Given the description of an element on the screen output the (x, y) to click on. 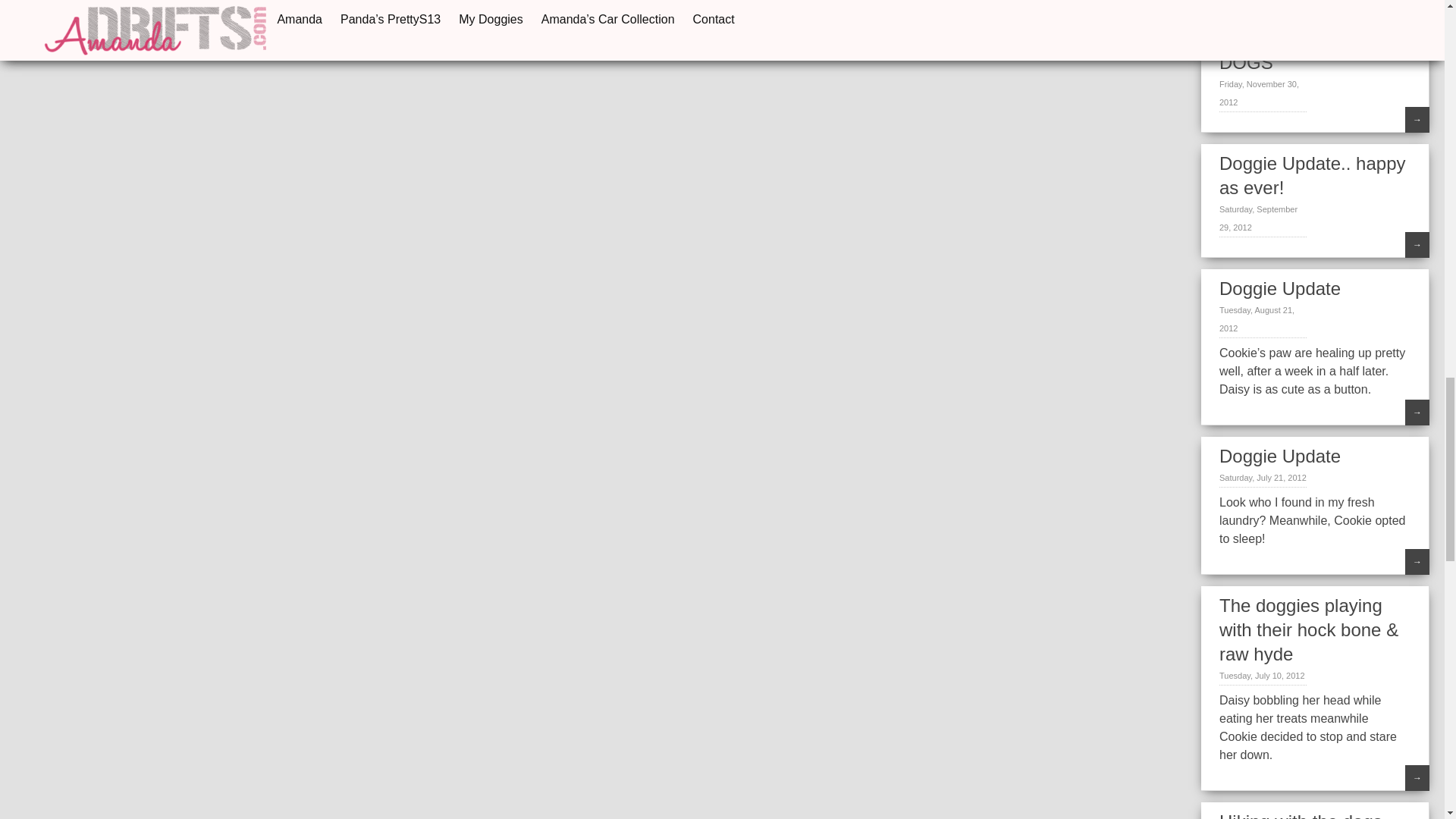
DOGS (1246, 62)
Doggie Update.. happy as ever! (1313, 175)
Doggie Update (1280, 455)
Doggie Update (1280, 288)
